Given the description of an element on the screen output the (x, y) to click on. 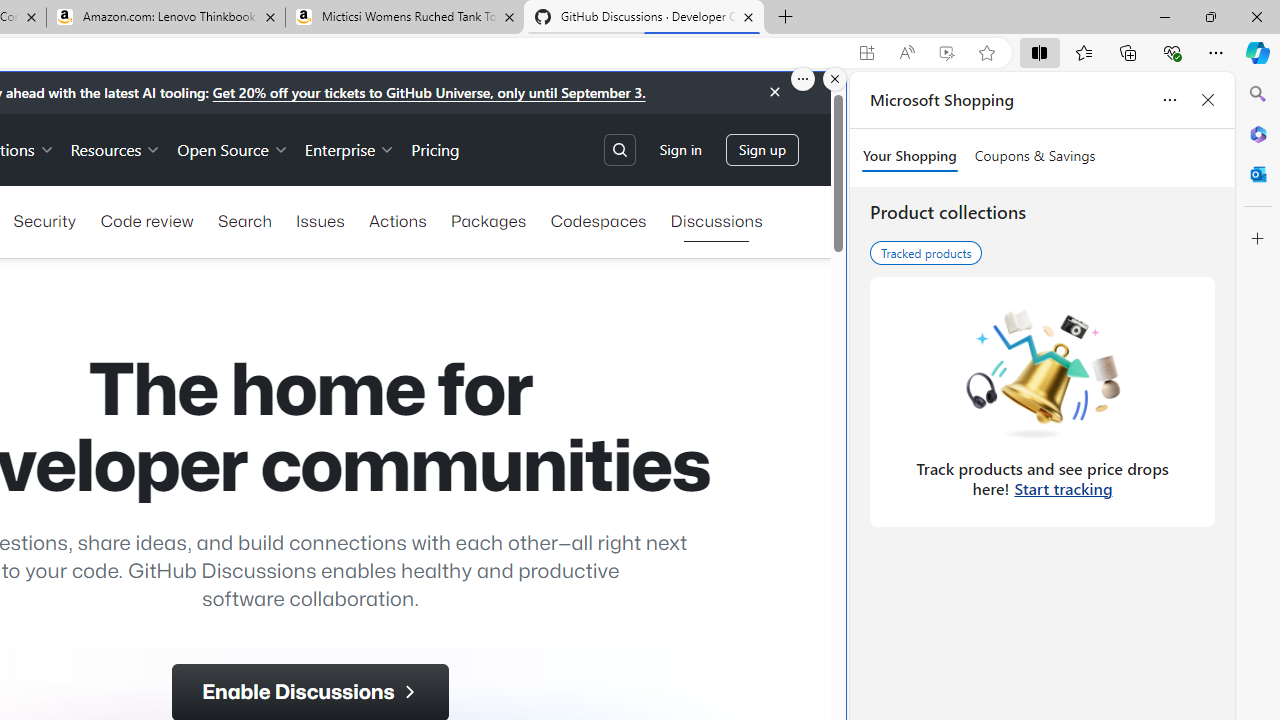
Sign up (761, 149)
Enhance video (946, 53)
Issues (320, 220)
Discussions (715, 220)
Open Source (232, 148)
Pricing (435, 148)
